Given the description of an element on the screen output the (x, y) to click on. 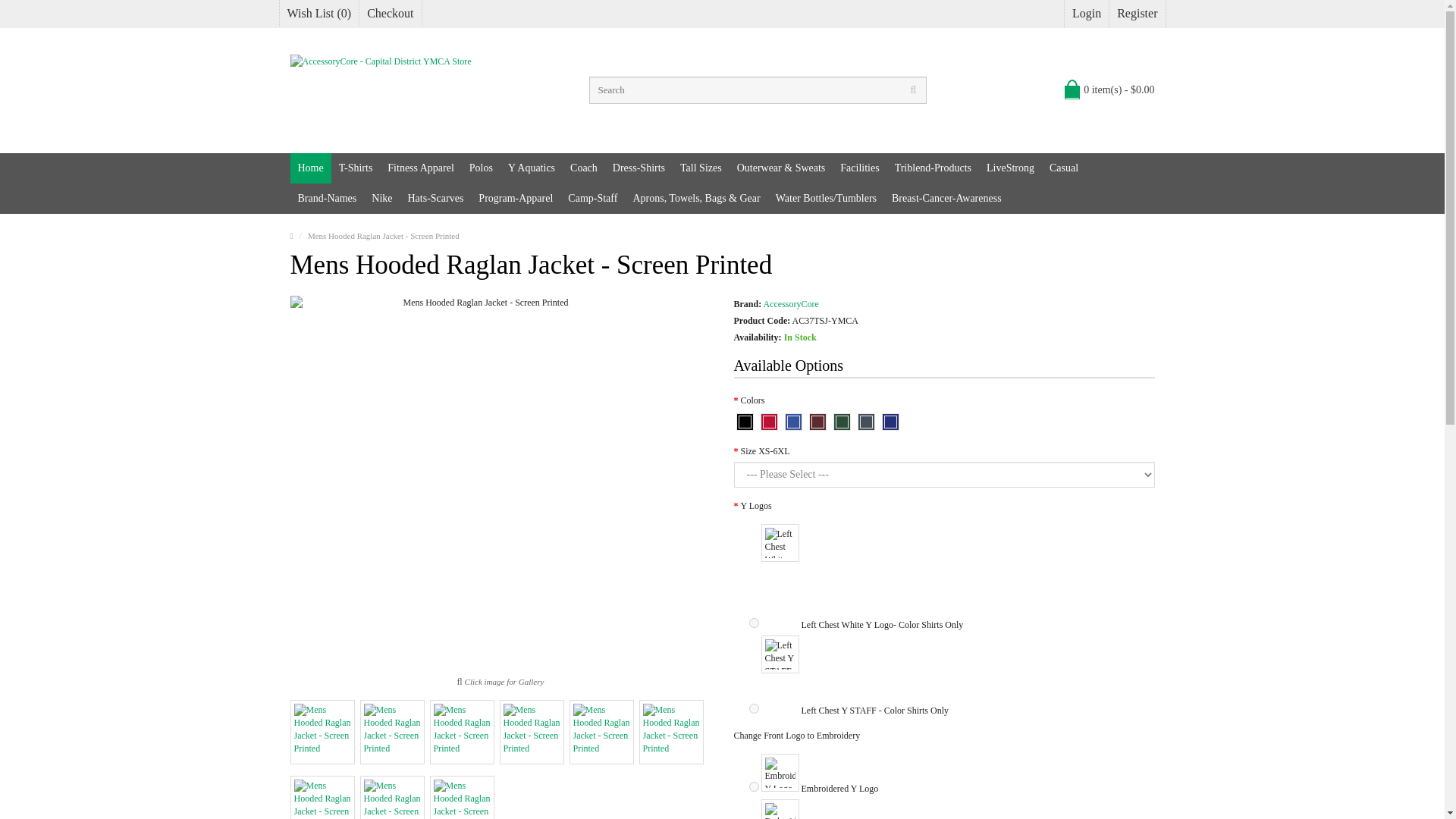
Mens Hooded Raglan Jacket - Screen Printed (322, 731)
Mens Hooded Raglan Jacket - Screen Printed (671, 732)
Mens Hooded Raglan Jacket - Screen Printed (601, 731)
Mens Hooded Raglan Jacket - Screen Printed (461, 732)
Mens Hooded Raglan Jacket - Screen Printed (391, 732)
Mens Hooded Raglan Jacket - Screen Printed (461, 797)
Mens Hooded Raglan Jacket - Screen Printed (531, 732)
Mens Hooded Raglan Jacket - Screen Printed (601, 732)
Coach (583, 168)
Fitness Apparel (420, 168)
